Given the description of an element on the screen output the (x, y) to click on. 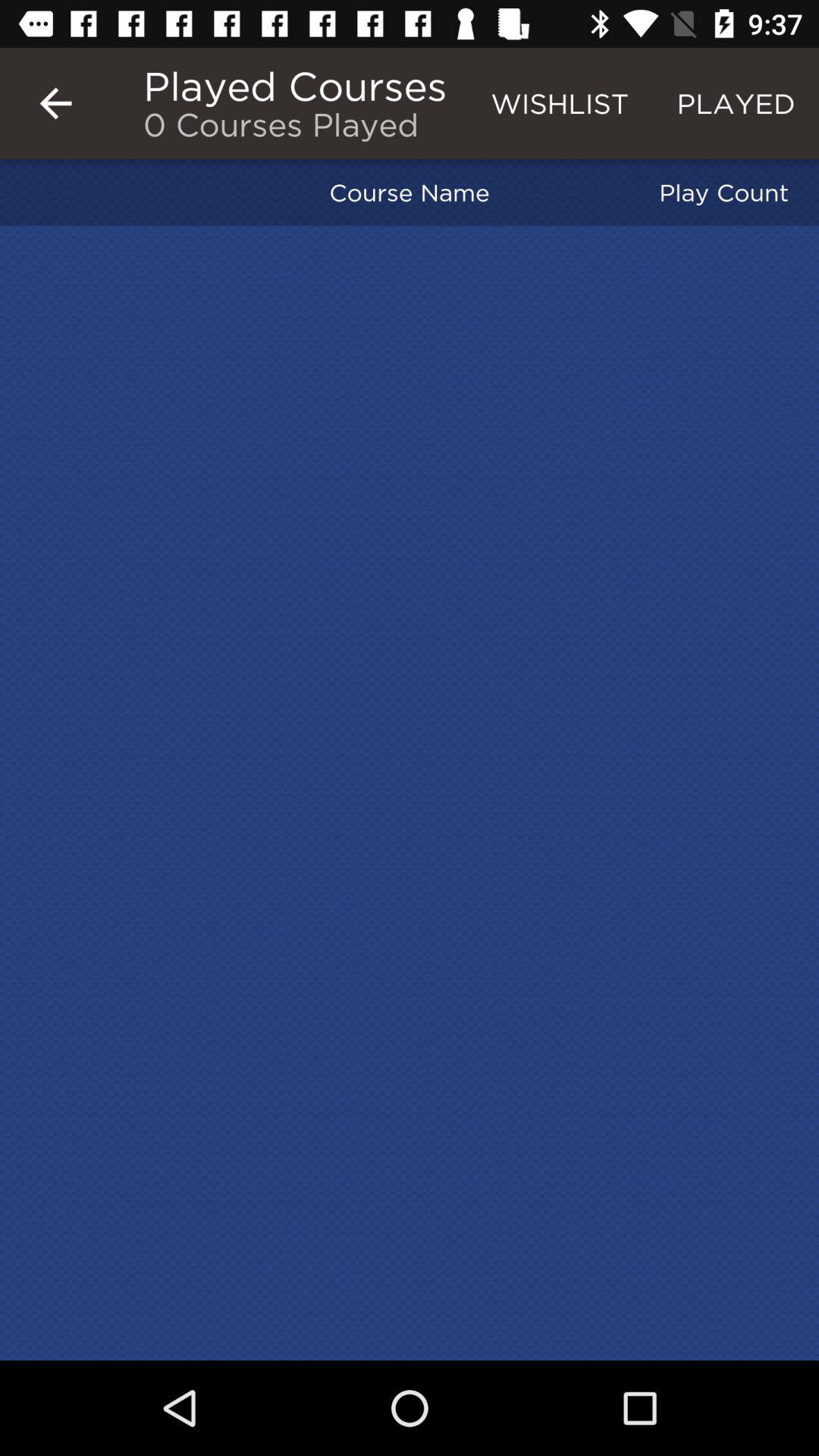
turn on icon above course name item (559, 103)
